Given the description of an element on the screen output the (x, y) to click on. 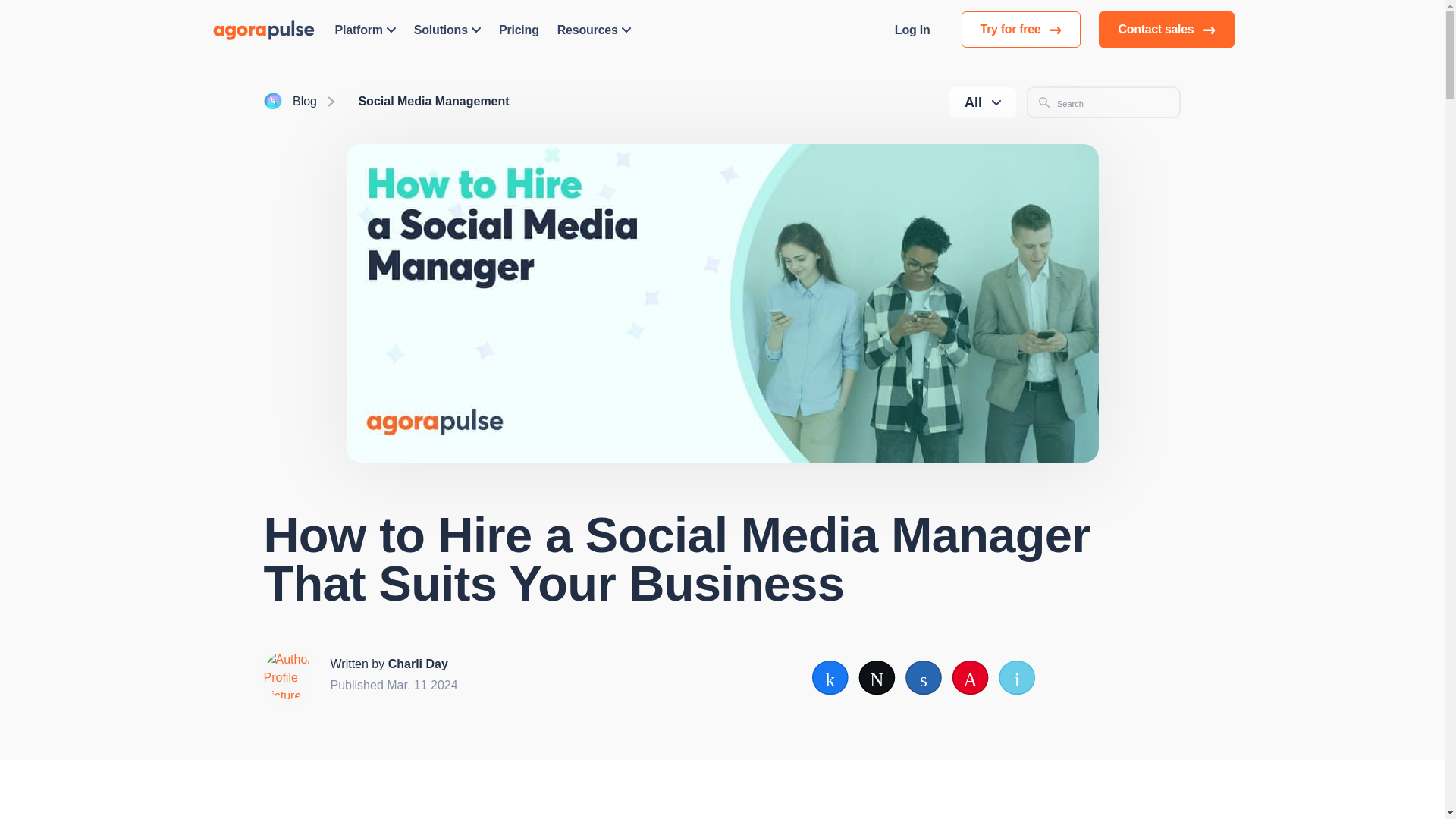
agorapulse (264, 29)
Resources (593, 29)
Pricing (518, 29)
Solutions (446, 29)
Blog (304, 101)
Contact sales (1166, 29)
Try for free (1020, 29)
Log In (912, 29)
Platform (365, 29)
